Given the description of an element on the screen output the (x, y) to click on. 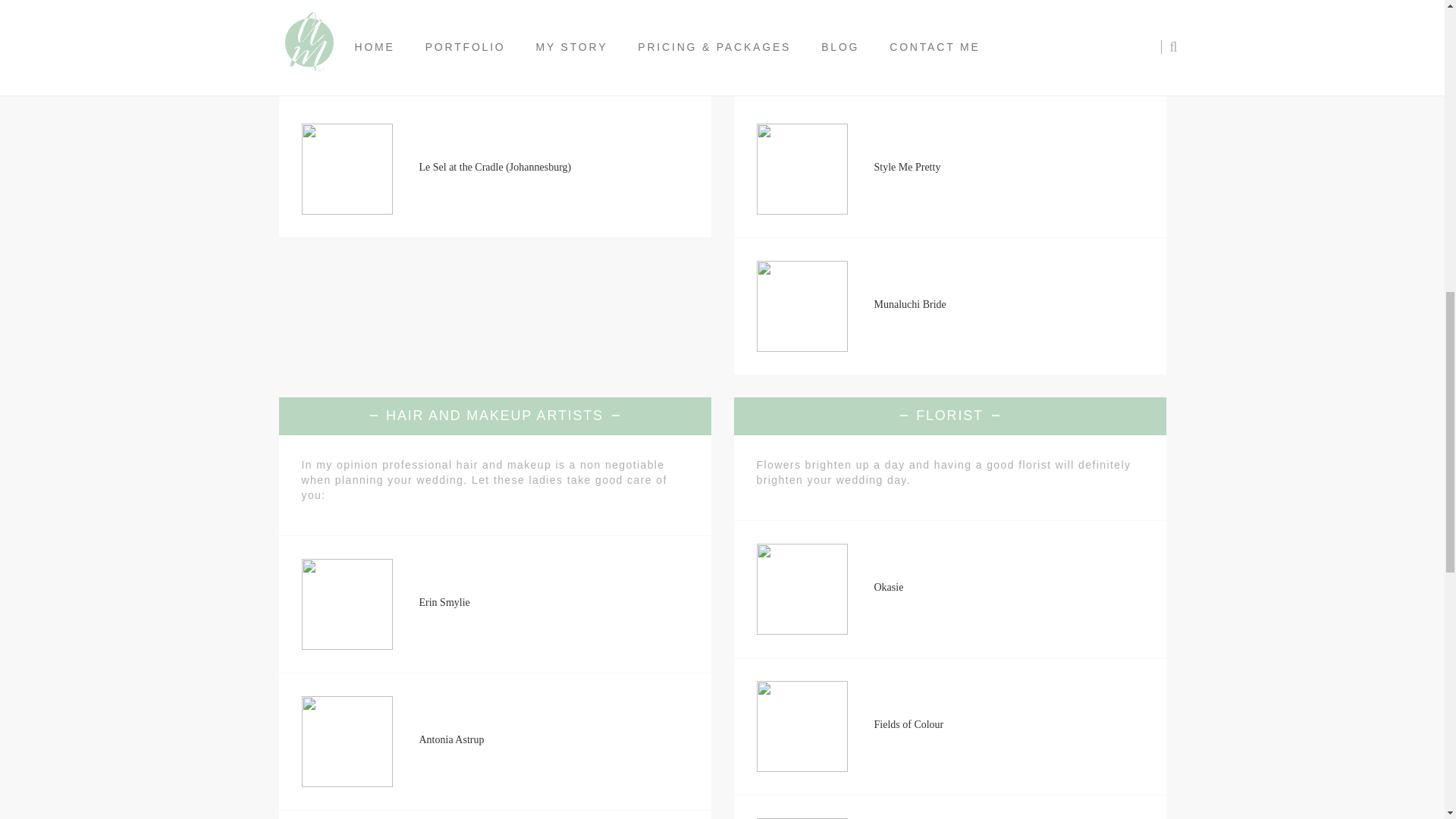
Erin Smylie (443, 602)
Fields of Colour (908, 724)
Antonia Astrup (451, 739)
Style Me Pretty (906, 166)
Okasie (887, 586)
The Pretty Blog (906, 30)
Munaluchi Bride (908, 304)
